Given the description of an element on the screen output the (x, y) to click on. 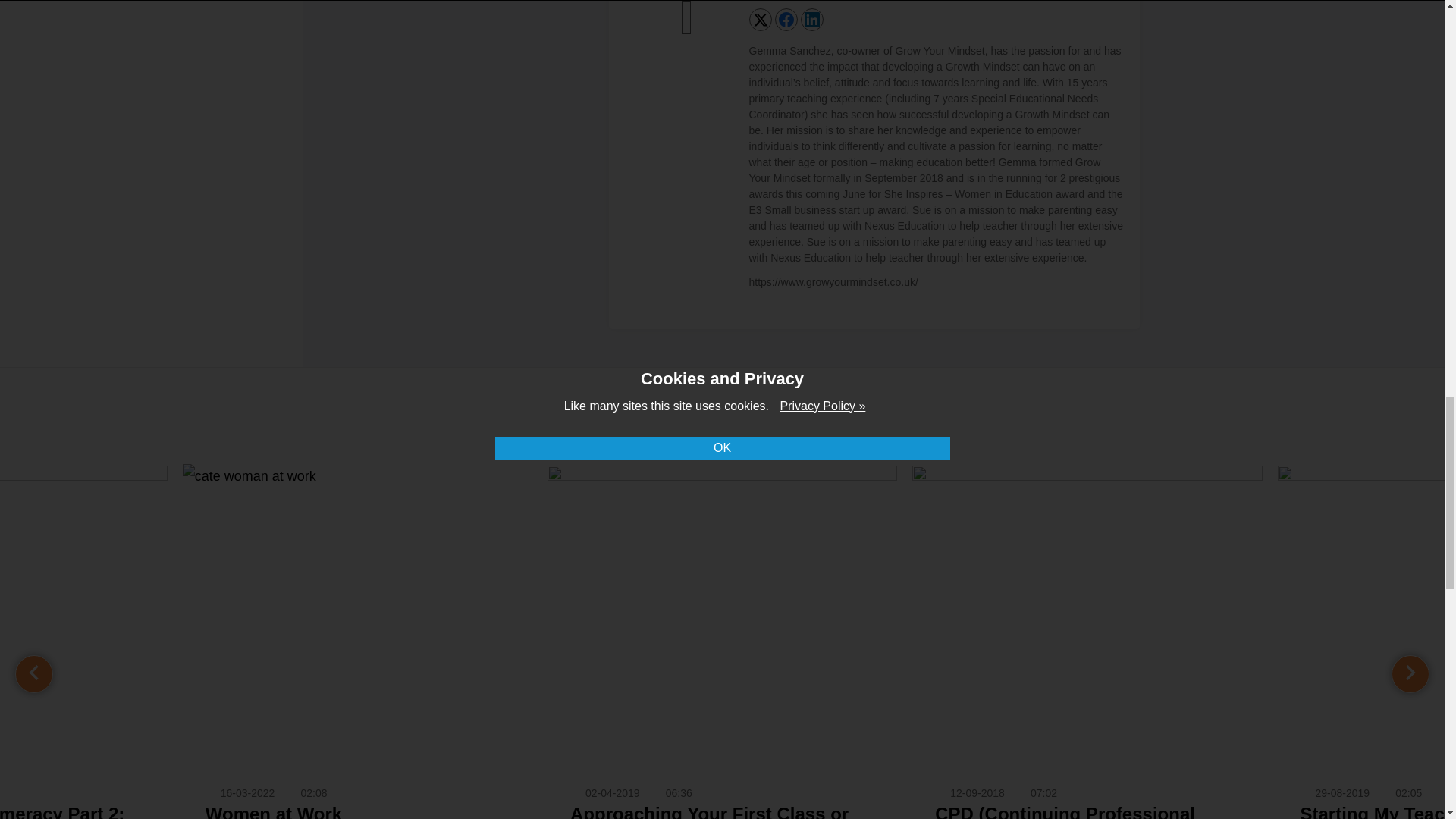
linkedin (812, 19)
facebook (785, 19)
twitter (759, 19)
